Given the description of an element on the screen output the (x, y) to click on. 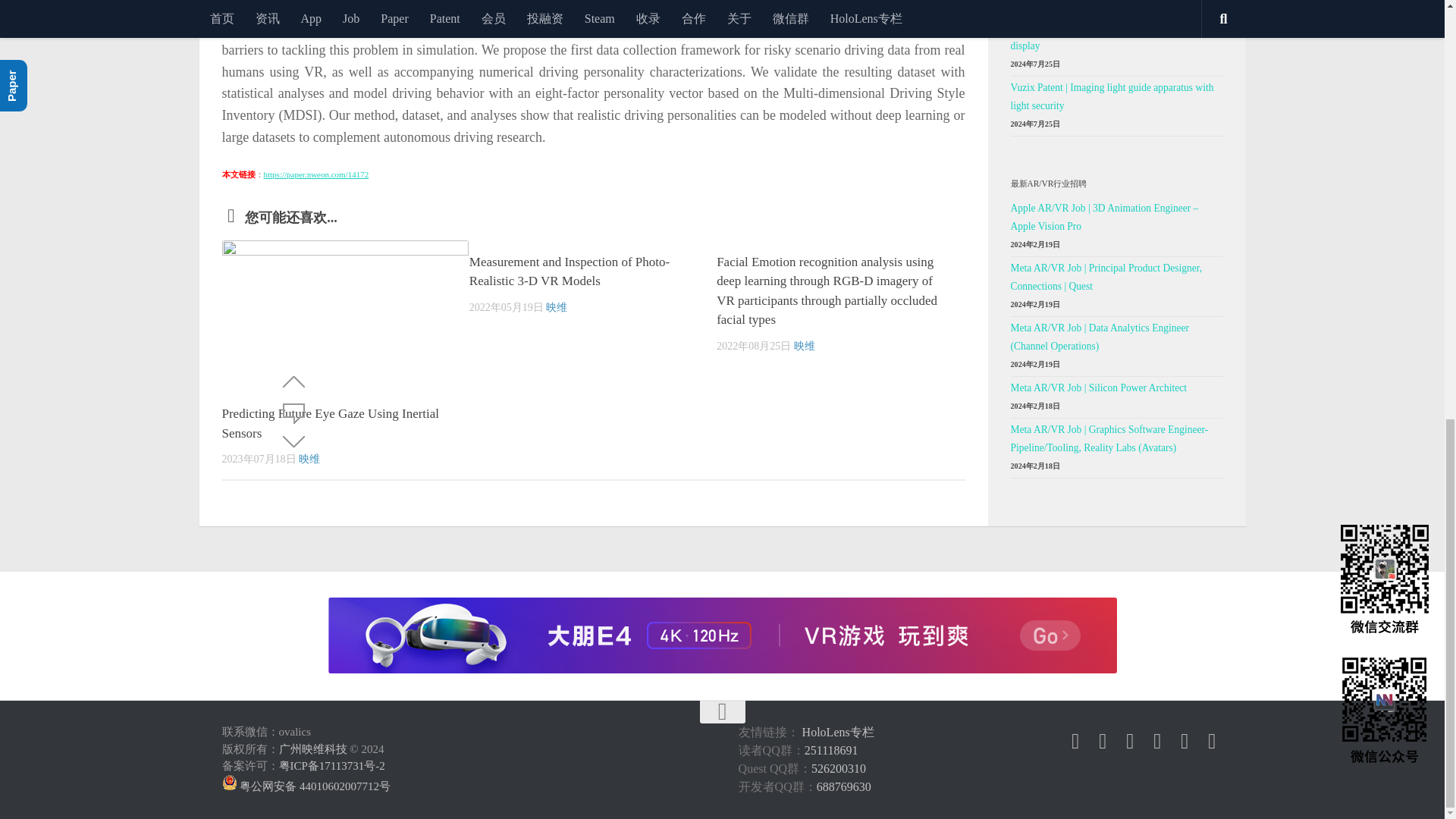
Twitter (1102, 741)
Predicting Future Eye Gaze Using Inertial Sensors (330, 423)
Predicting Future Eye Gaze Using Inertial Sensors (330, 423)
Predicting Future Eye Gaze Using Inertial Sensors (344, 316)
Measurement and Inspection of Photo-Realistic 3-D VR Models (568, 271)
Measurement and Inspection of Photo-Realistic 3-D VR Models (568, 271)
